Given the description of an element on the screen output the (x, y) to click on. 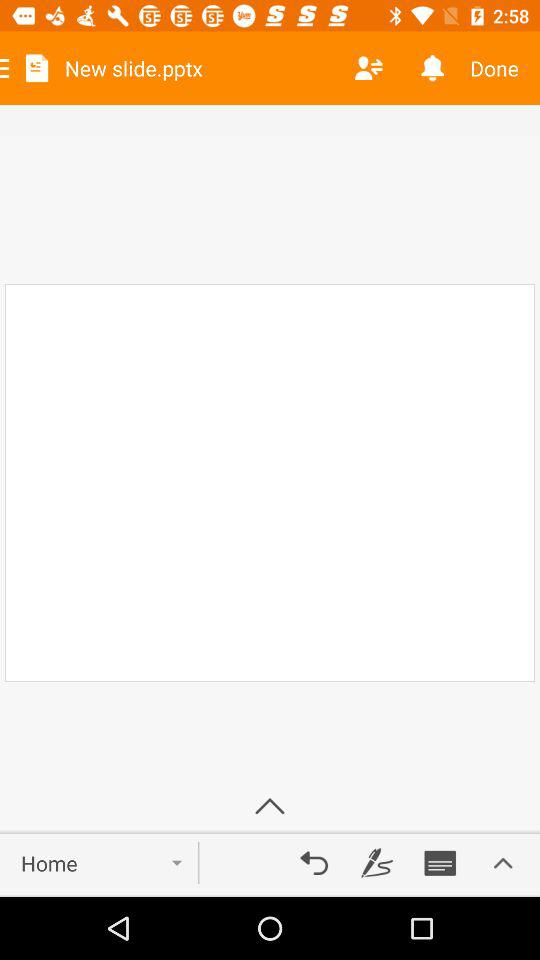
pencil tool (377, 863)
